Given the description of an element on the screen output the (x, y) to click on. 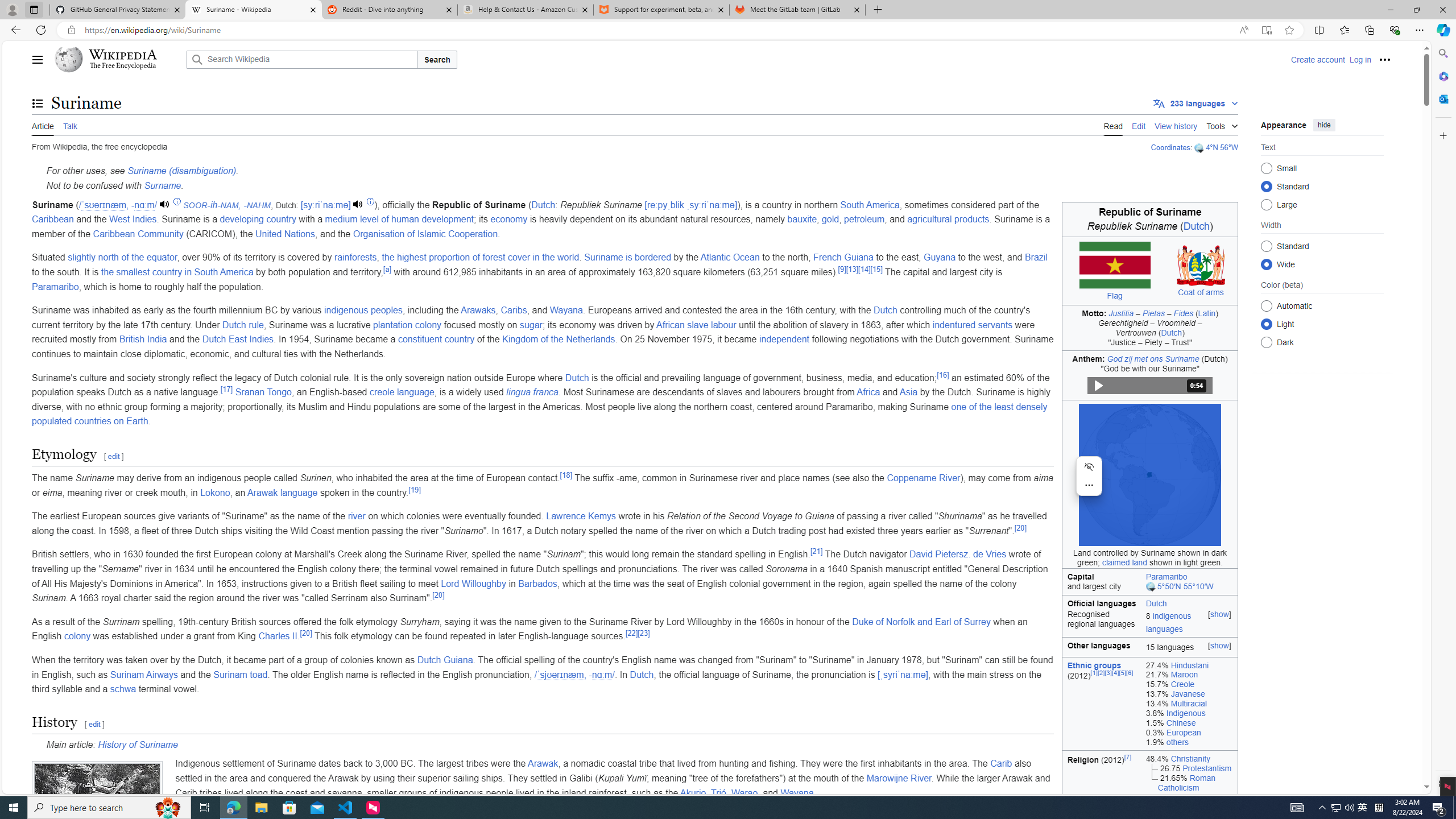
Wayana (796, 792)
Edit (1138, 124)
Caribs (513, 310)
Coat of arms of Suriname (1200, 264)
[show] (1220, 645)
medium level of human development (399, 219)
Dark (1266, 341)
Surinam Airways (144, 674)
creole language (401, 392)
26.75 Protestantism (1189, 768)
David Pietersz. de Vries (958, 554)
indentured servants (972, 324)
